Given the description of an element on the screen output the (x, y) to click on. 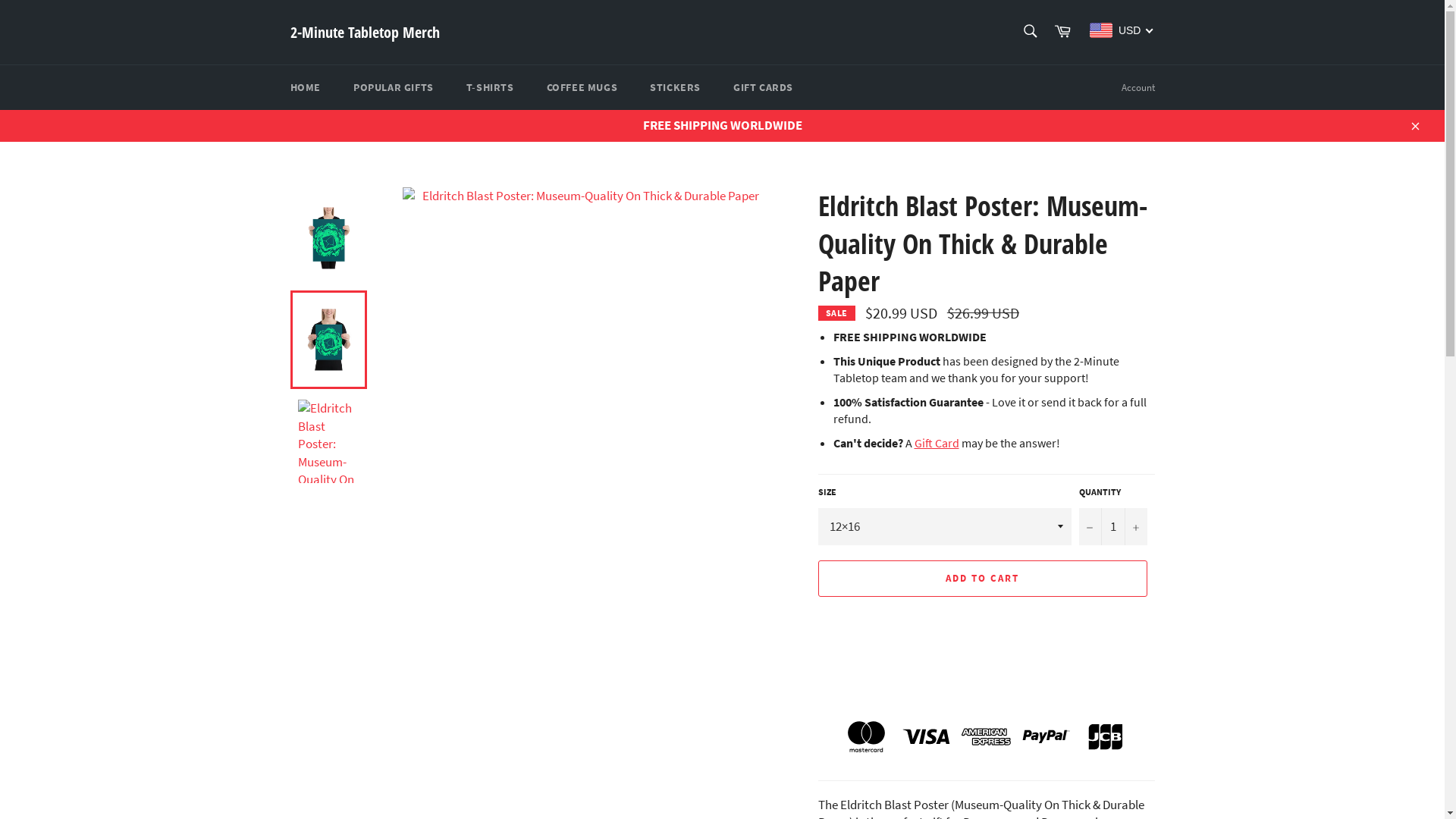
ADD TO CART Element type: text (981, 578)
POPULAR GIFTS Element type: text (393, 87)
Account Element type: text (1137, 87)
Close Element type: text (1414, 125)
Gift Card Element type: text (936, 442)
Search Element type: text (1029, 31)
+ Element type: text (1134, 526)
STICKERS Element type: text (674, 87)
2-Minute Tabletop Merch Element type: text (364, 32)
COFFEE MUGS Element type: text (582, 87)
HOME Element type: text (304, 87)
GIFT CARDS Element type: text (763, 87)
Cart Element type: text (1062, 32)
T-SHIRTS Element type: text (490, 87)
